Given the description of an element on the screen output the (x, y) to click on. 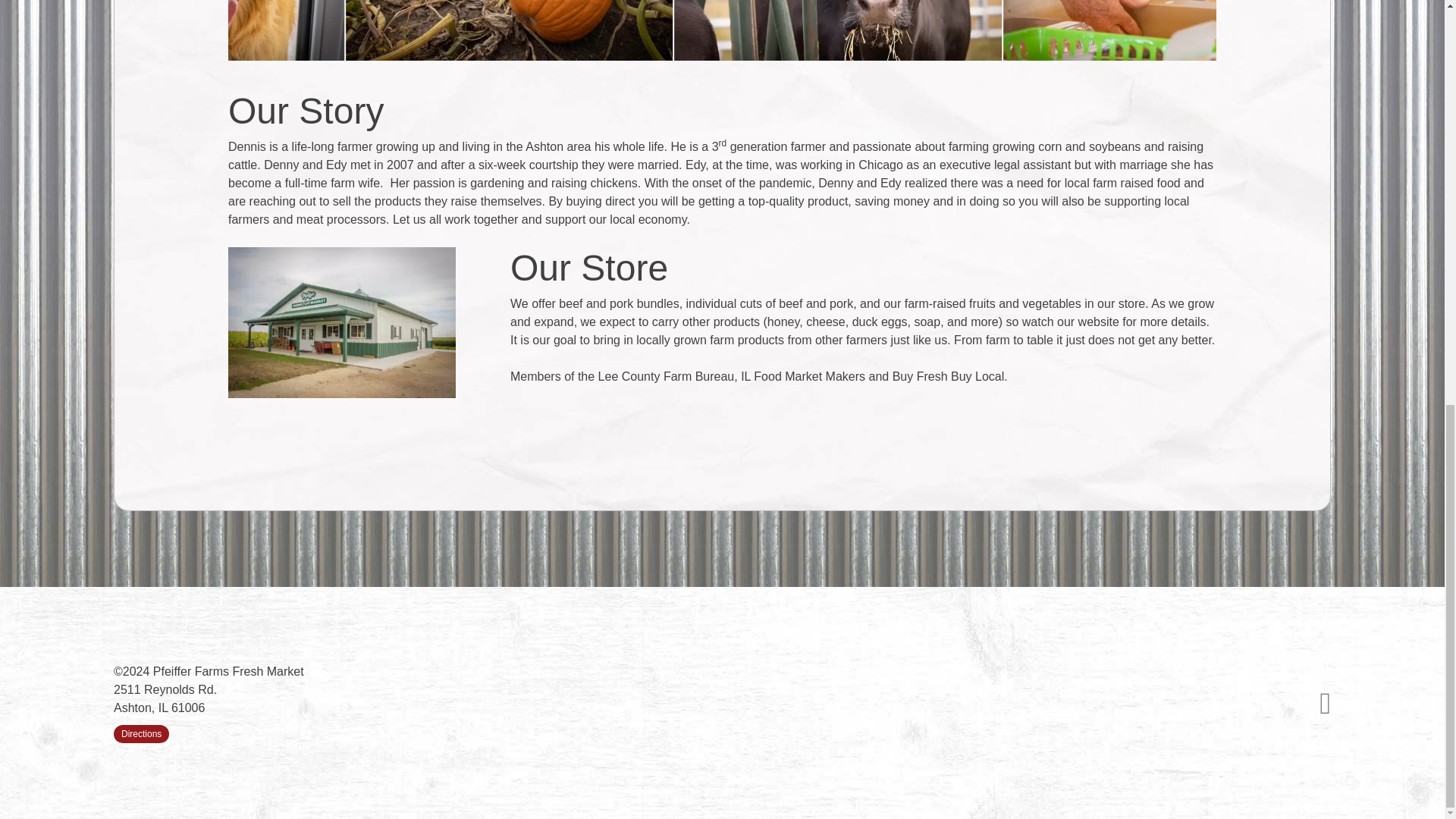
Directions (140, 733)
